Given the description of an element on the screen output the (x, y) to click on. 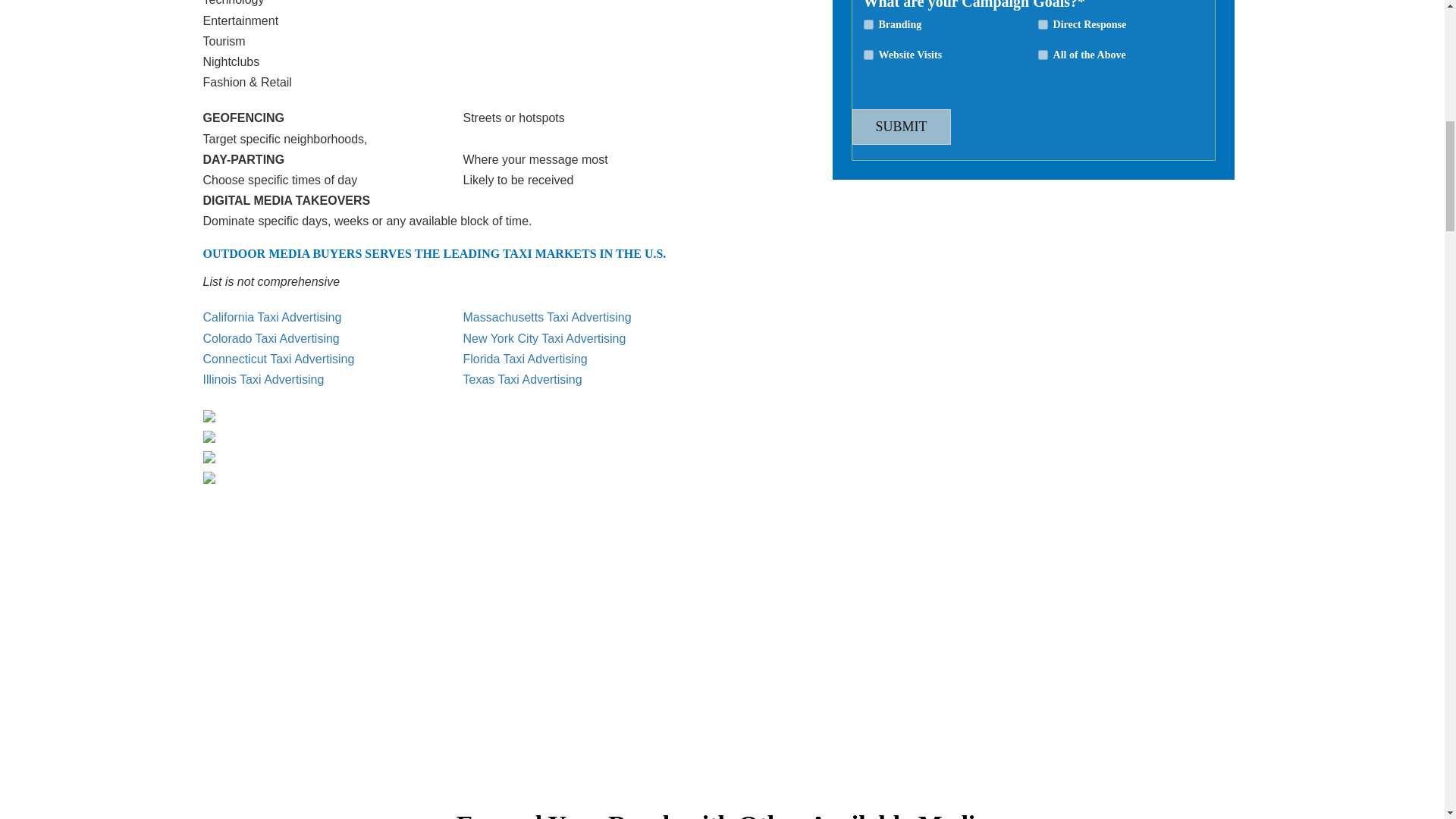
Branding (867, 24)
Direct Response (1043, 24)
